Given the description of an element on the screen output the (x, y) to click on. 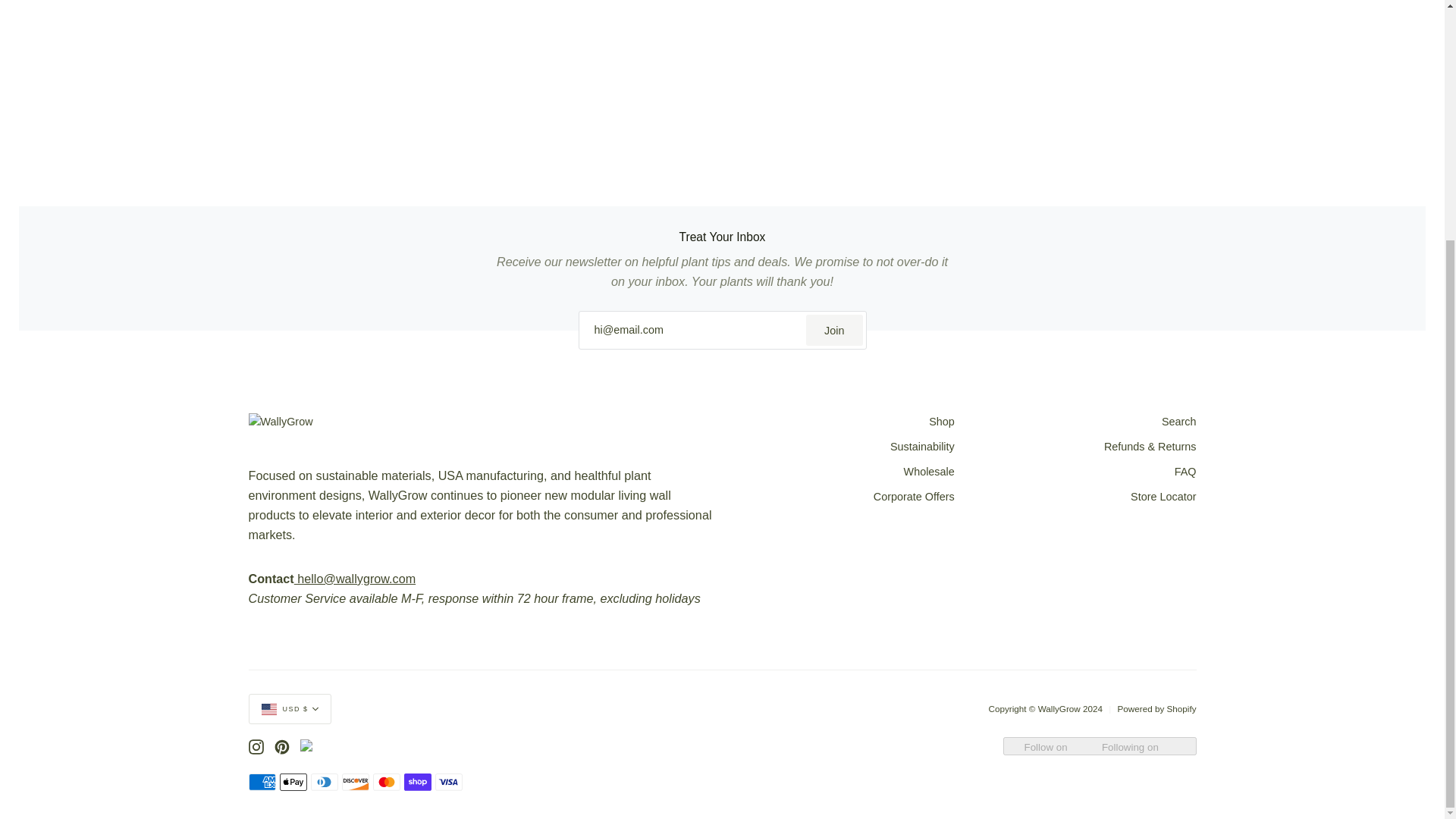
WallyGrow on Instagram (255, 746)
WallyGrow on Pinterest (282, 746)
